Given the description of an element on the screen output the (x, y) to click on. 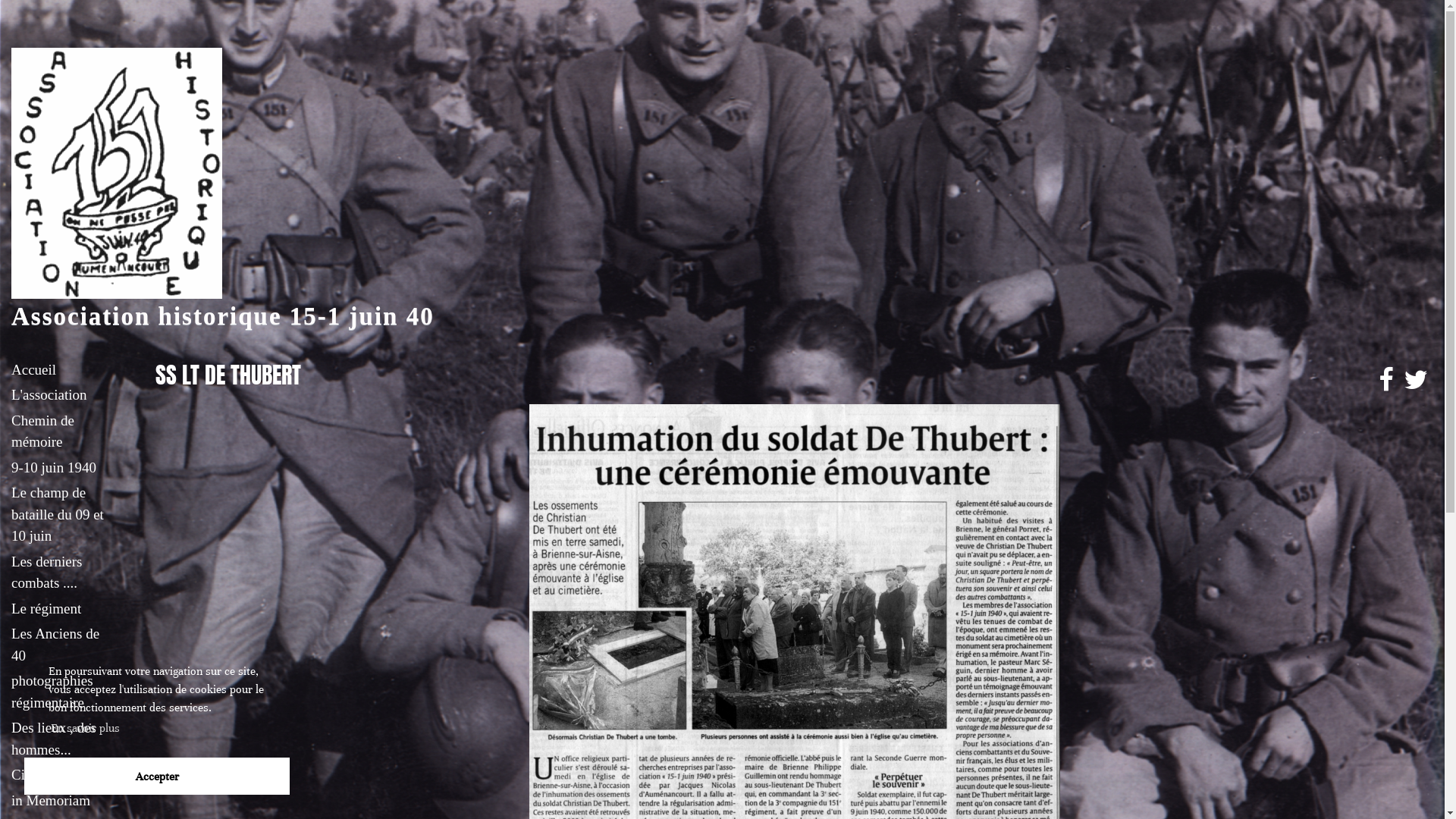
Facebook Element type: hover (1385, 380)
15-1juin40.com Element type: hover (116, 170)
Les Anciens de 40 Element type: text (60, 644)
En savoir plus Element type: text (85, 727)
Le champ de bataille du 09 et 10 juin Element type: text (60, 514)
Des lieux , des hommes... Element type: text (60, 738)
Association historique 15-1 juin 40 Element type: text (222, 315)
Twitter Element type: hover (1415, 380)
Accueil Element type: text (60, 370)
Accepter Element type: text (156, 775)
L'association Element type: text (60, 395)
Les derniers combats .... Element type: text (60, 571)
9-10 juin 1940 Element type: text (60, 467)
in Memoriam Element type: text (60, 801)
Citations Element type: text (60, 775)
